Given the description of an element on the screen output the (x, y) to click on. 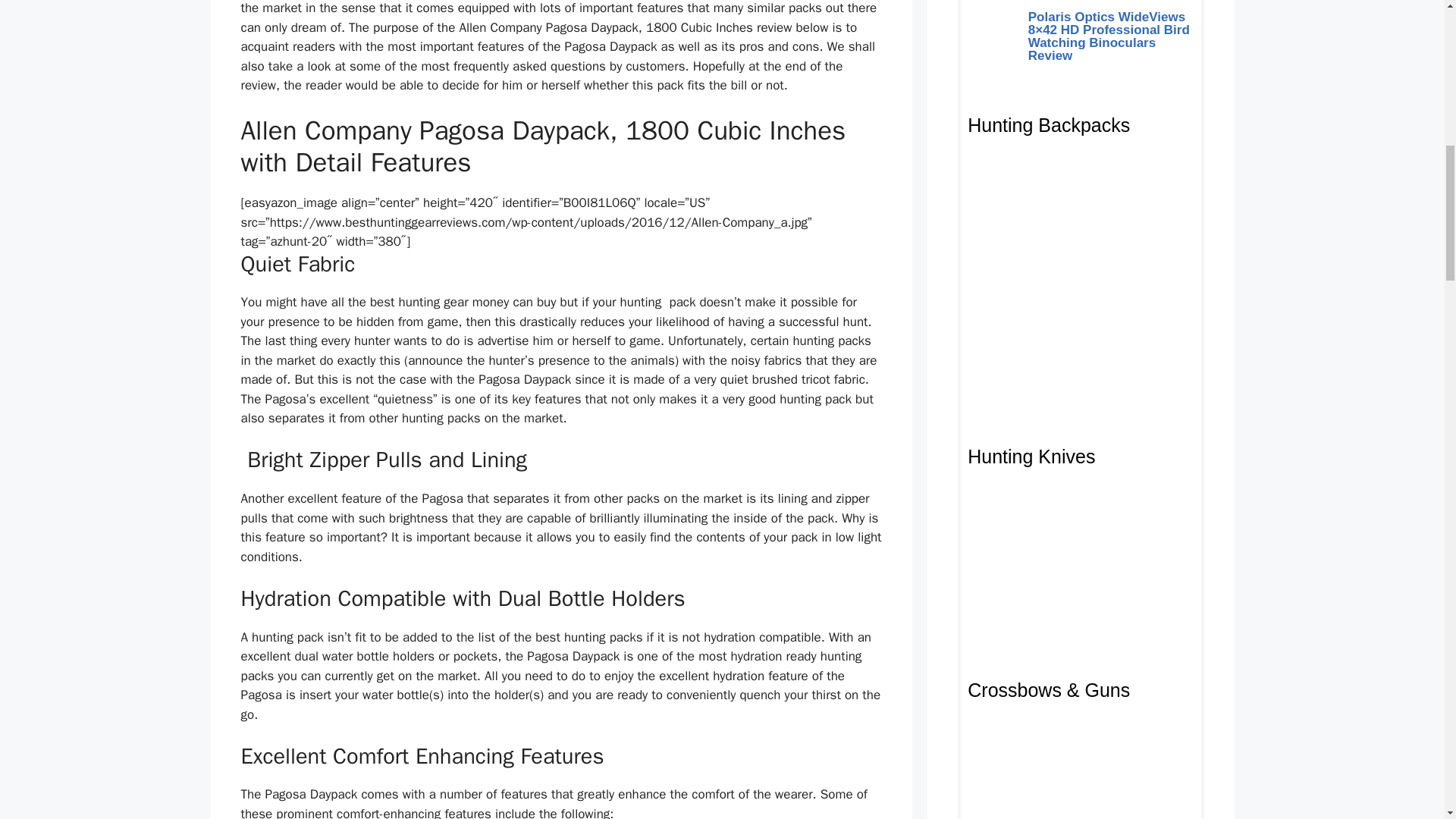
Scroll back to top (1406, 720)
